Given the description of an element on the screen output the (x, y) to click on. 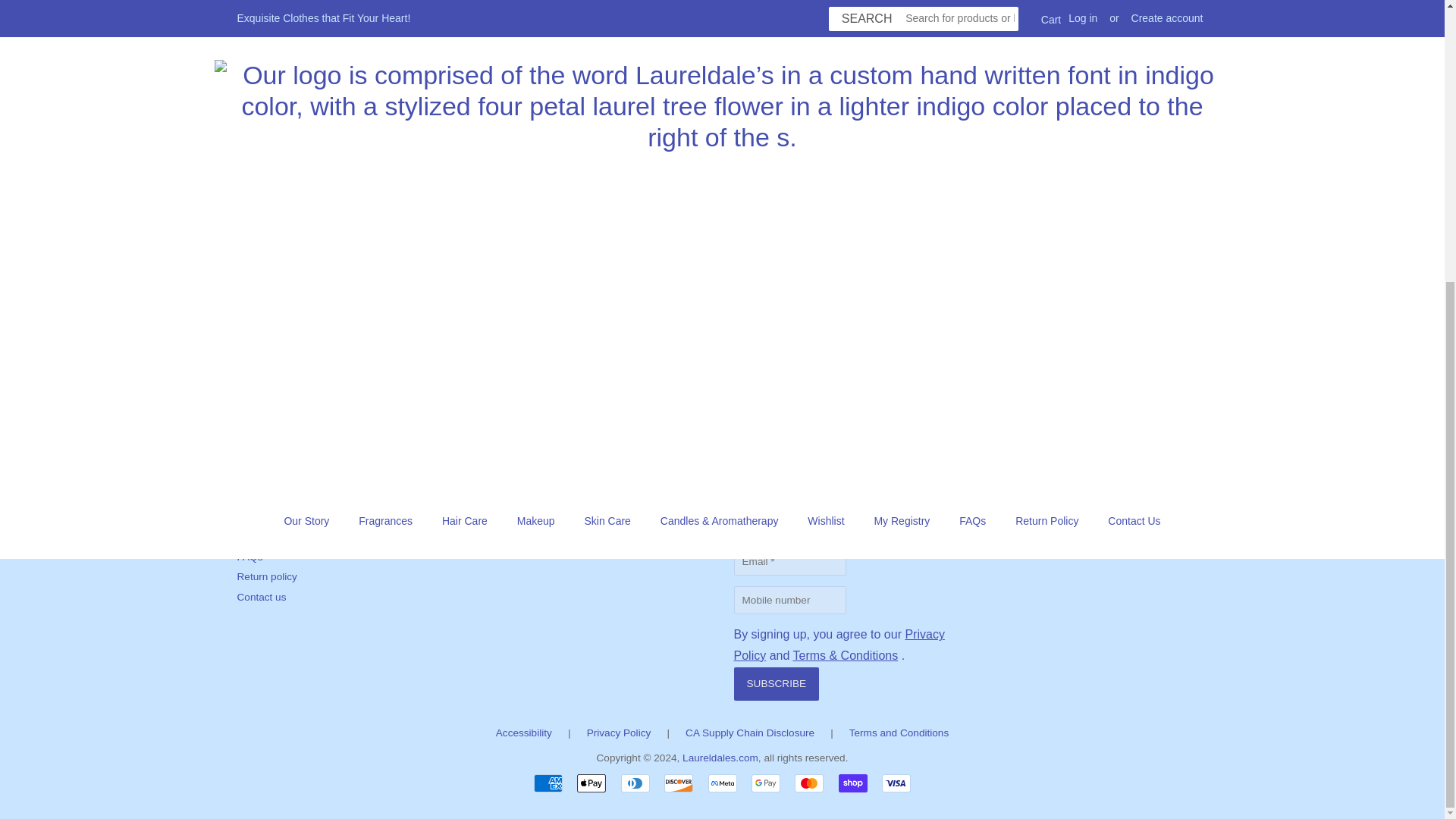
Google Pay (765, 782)
Mastercard (809, 782)
Tiktok (1100, 440)
Instagram (1057, 438)
Visa (896, 782)
Meta Pay (721, 782)
Shop Pay (852, 782)
Diners Club (635, 782)
American Express (548, 782)
Discover (678, 782)
Subscribe (776, 684)
Apple Pay (590, 782)
Facebook (1004, 438)
